Given the description of an element on the screen output the (x, y) to click on. 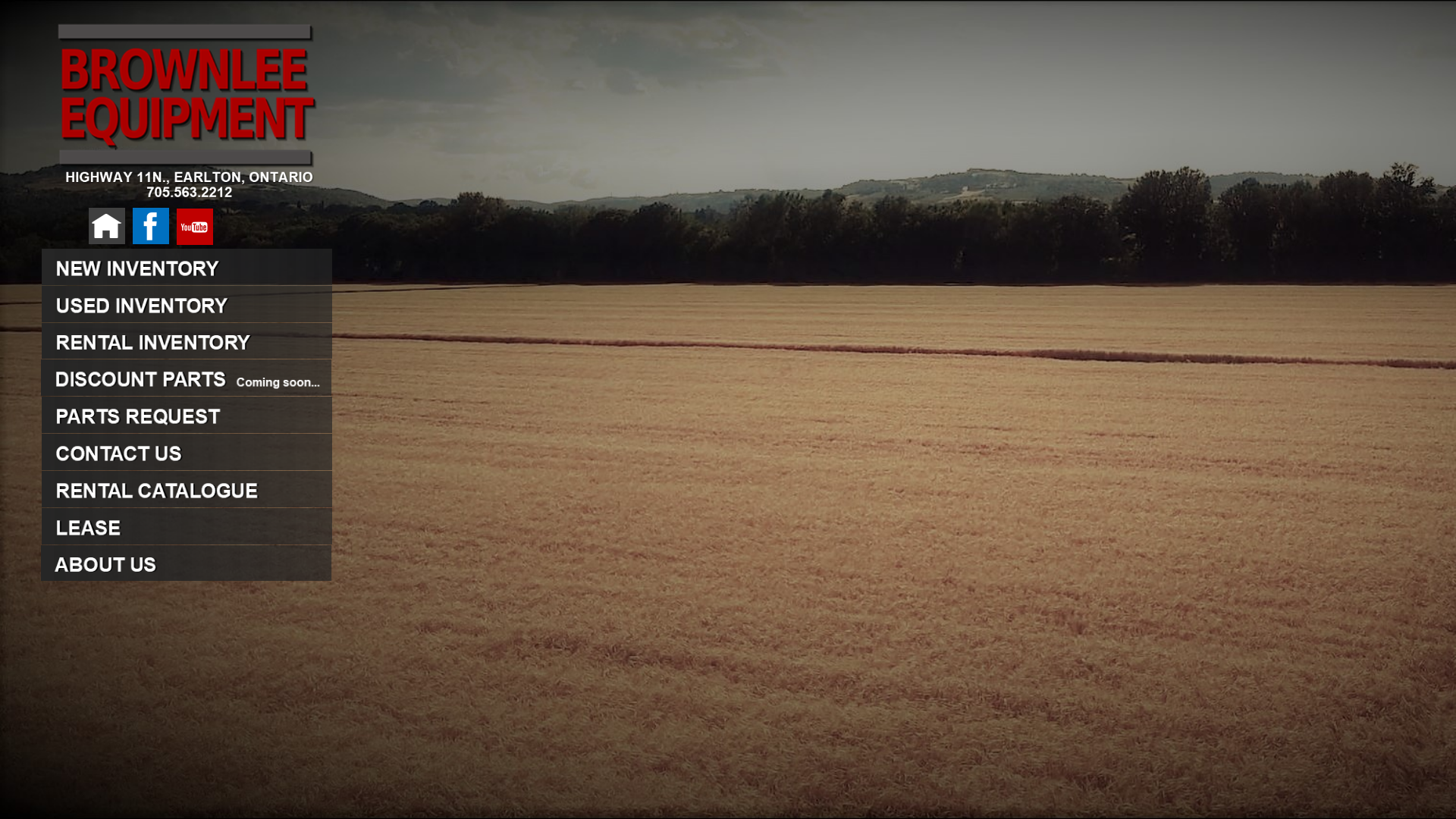
Brownlee Equipment Home Page Element type: hover (104, 240)
Brownlee Equipment YouTube Page Element type: hover (192, 240)
Brownlee Equipment Rental Catalogue Element type: hover (186, 488)
Contact Brownlee Equipment Element type: hover (186, 451)
Brownlee Equipment Facebook Page Element type: hover (148, 240)
About Brownlee Equipment Element type: hover (186, 562)
Get Financed Element type: hover (186, 525)
Parts Request Element type: hover (186, 414)
